Given the description of an element on the screen output the (x, y) to click on. 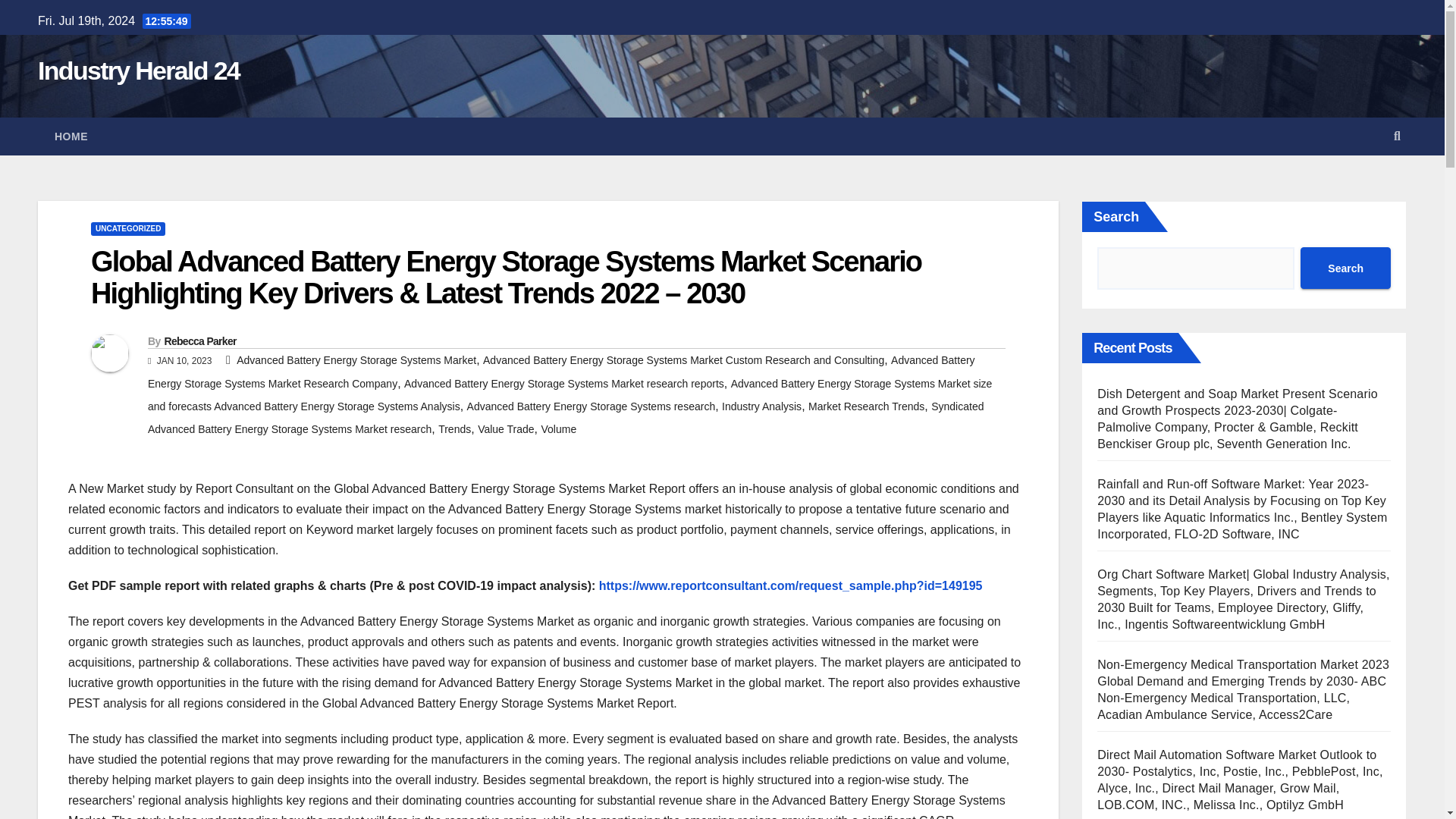
Value Trade (505, 428)
Rebecca Parker (199, 340)
Trends (454, 428)
HOME (70, 136)
Advanced Battery Energy Storage Systems research (591, 406)
UNCATEGORIZED (127, 228)
Industry Herald 24 (138, 70)
Volume (558, 428)
Market Research Trends (866, 406)
Advanced Battery Energy Storage Systems Market (355, 359)
Home (70, 136)
Industry Analysis (762, 406)
